Given the description of an element on the screen output the (x, y) to click on. 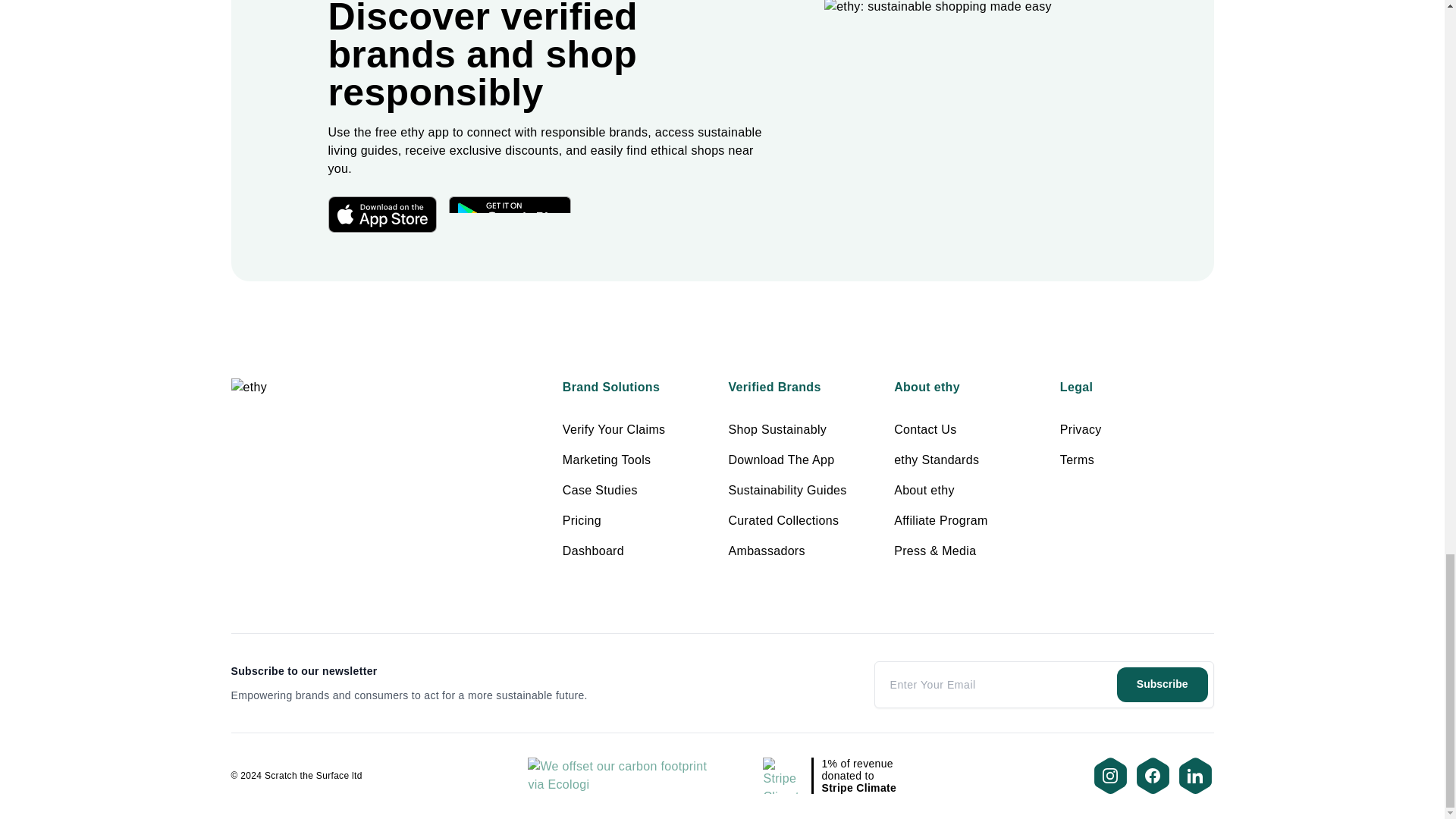
View our Ecologi profile (622, 775)
Sustainability Guides (786, 490)
Case Studies (599, 490)
Verify Your Claims (613, 429)
Download The App (781, 459)
Marketing Tools (606, 459)
Dashboard (593, 550)
Ambassadors (766, 550)
Curated Collections (783, 520)
Shop Sustainably (777, 429)
